Given the description of an element on the screen output the (x, y) to click on. 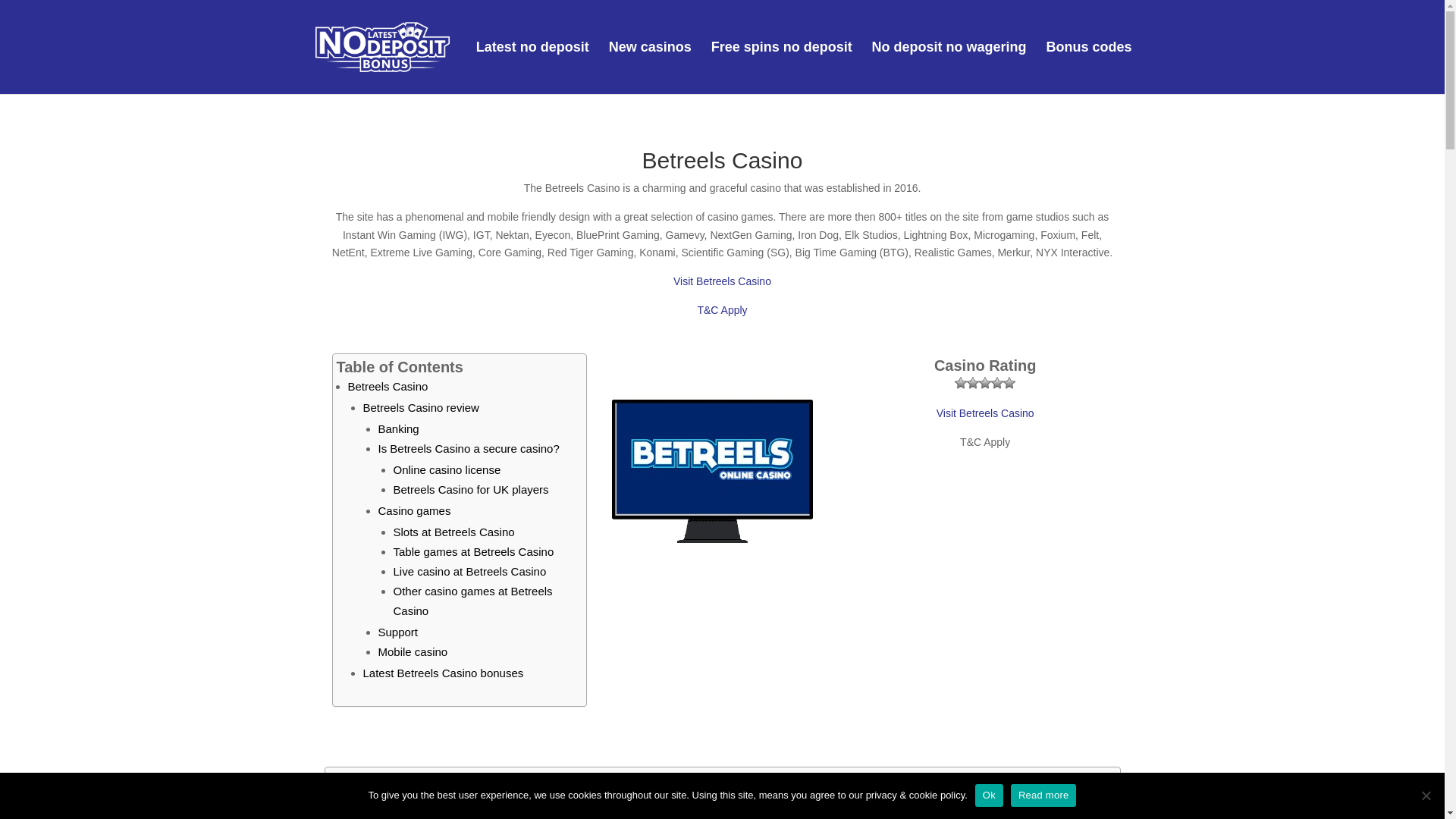
Mobile casino (411, 651)
Live casino at Betreels Casino (469, 571)
No deposit no wagering (949, 67)
Is Betreels Casino a secure casino? (468, 448)
Online casino license (446, 469)
Online casino license (446, 469)
Betreels Casino (387, 386)
Banking (398, 428)
Latest Betreels Casino bonuses (442, 672)
Slots at Betreels Casino (453, 531)
Banking (398, 428)
2 Stars (972, 382)
New casinos (649, 67)
Betreels Casino (387, 386)
Support (397, 631)
